Given the description of an element on the screen output the (x, y) to click on. 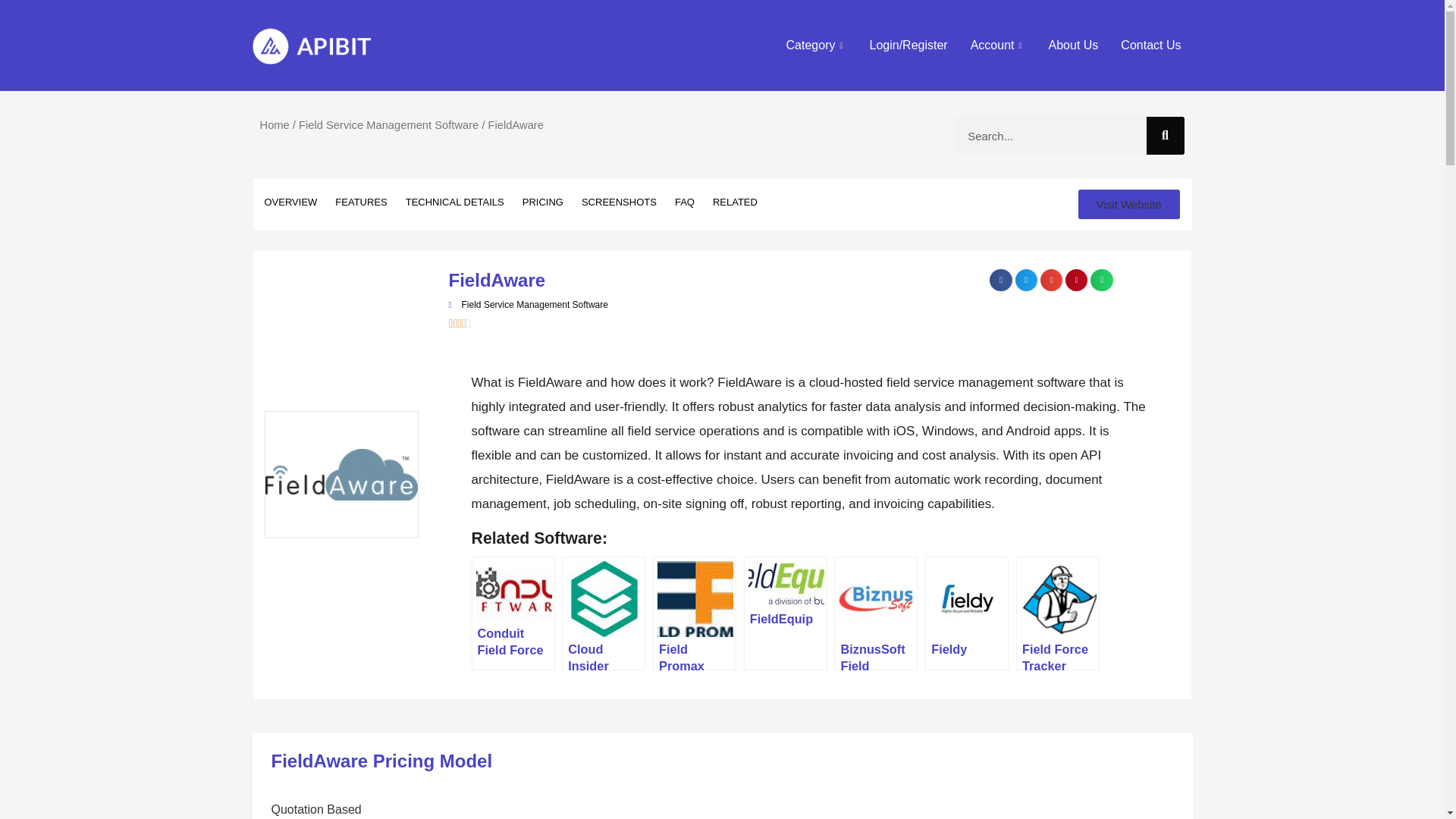
Field Promax 10 (695, 599)
Conduit Field Force Management 8 (513, 590)
Category (816, 45)
Cloud Insider 9 (604, 599)
Fieldy 13 (968, 599)
BiznusSoft Field Service 12 (876, 599)
Account (997, 45)
Field Force Tracker 14 (1058, 599)
FieldEquip 11 (786, 583)
